Given the description of an element on the screen output the (x, y) to click on. 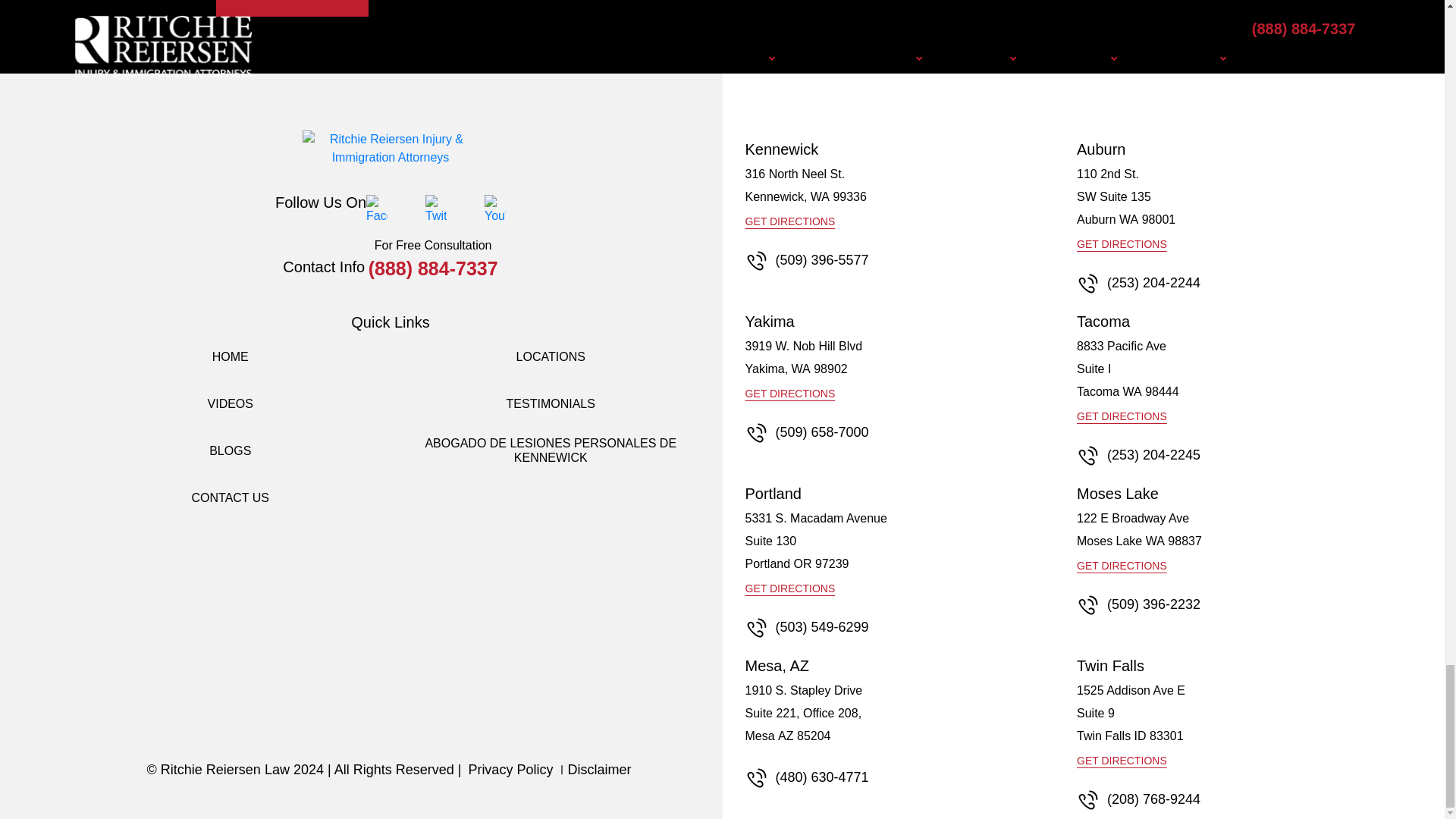
Submit (291, 8)
